Given the description of an element on the screen output the (x, y) to click on. 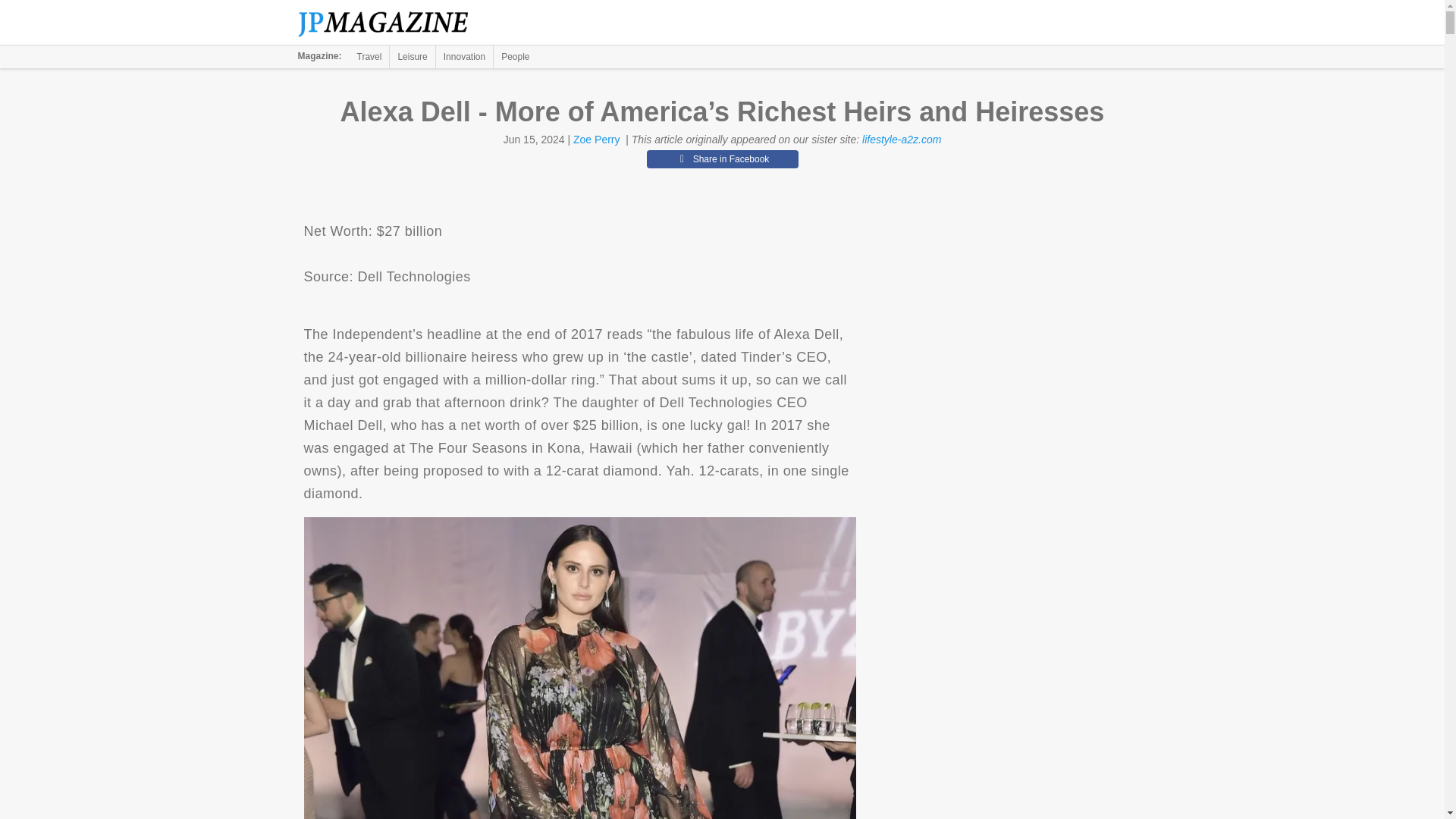
The Jerusalem Post Magazine (391, 22)
Leisure (411, 56)
People (515, 56)
Zoe Perry (596, 139)
lifestyle-a2z.com (900, 139)
Share in Facebook (721, 158)
Travel (369, 56)
Innovation (464, 56)
